Given the description of an element on the screen output the (x, y) to click on. 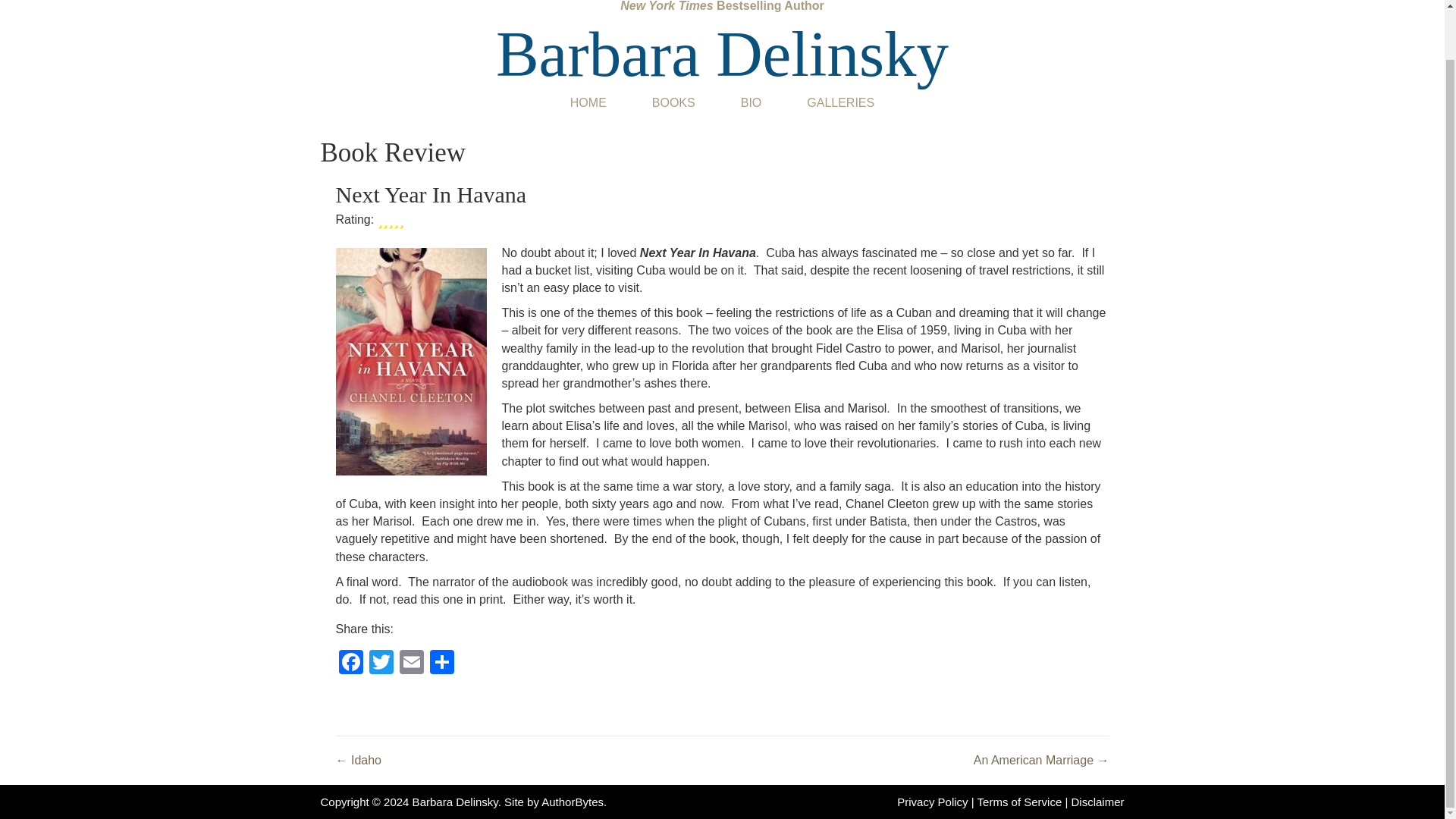
Barbara Delinsky (722, 53)
AuthorBytes (572, 800)
HOME (587, 102)
Terms of Service (1019, 800)
Twitter (380, 664)
Twitter (380, 664)
Facebook (349, 664)
BIO (750, 102)
Email (411, 664)
GALLERIES (840, 102)
